Given the description of an element on the screen output the (x, y) to click on. 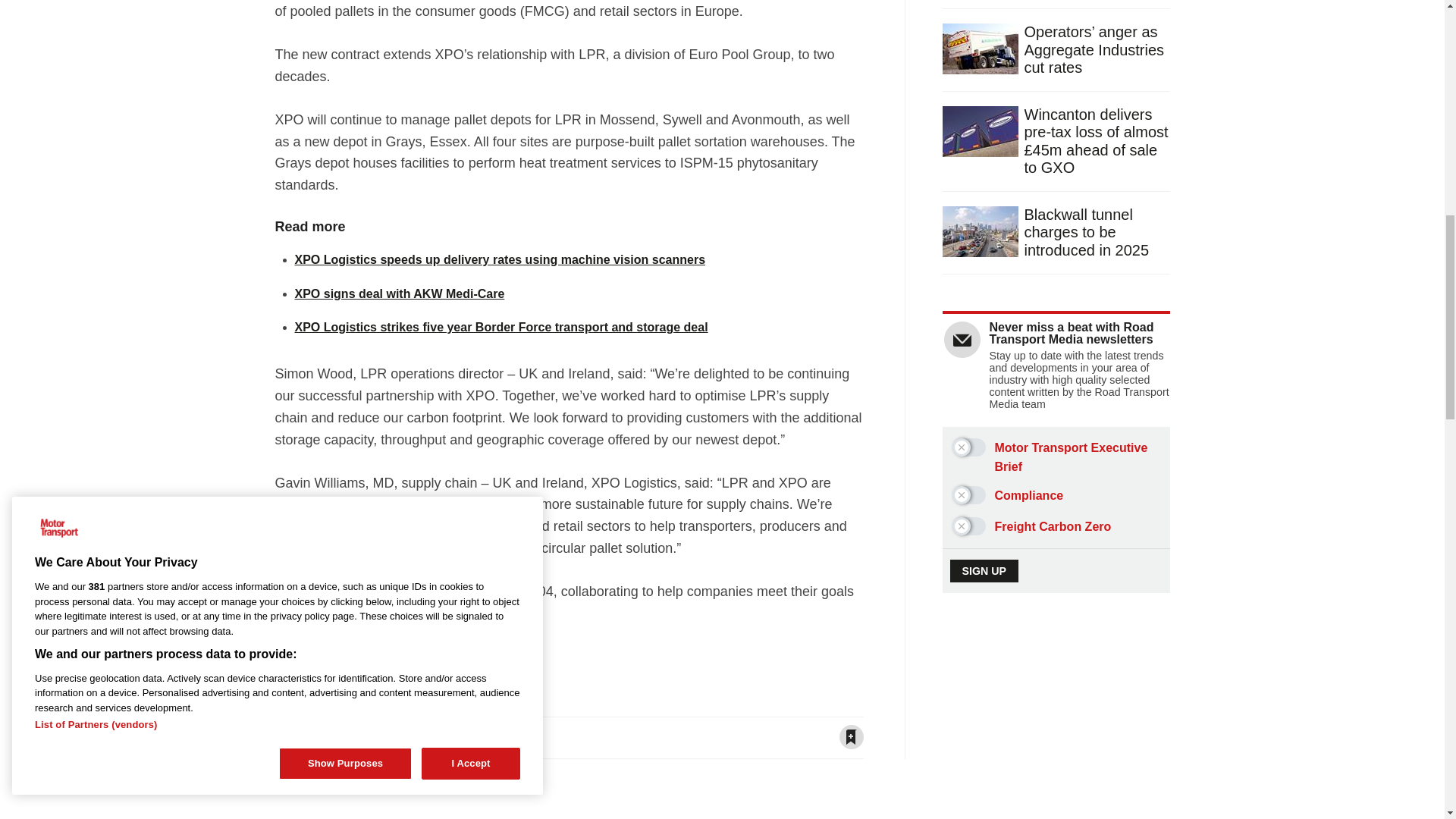
Share this on Twitter (316, 736)
Email this article (376, 736)
3rd party ad content (1056, 735)
Share this on Facebook (286, 736)
Share this on Linked in (345, 736)
